Given the description of an element on the screen output the (x, y) to click on. 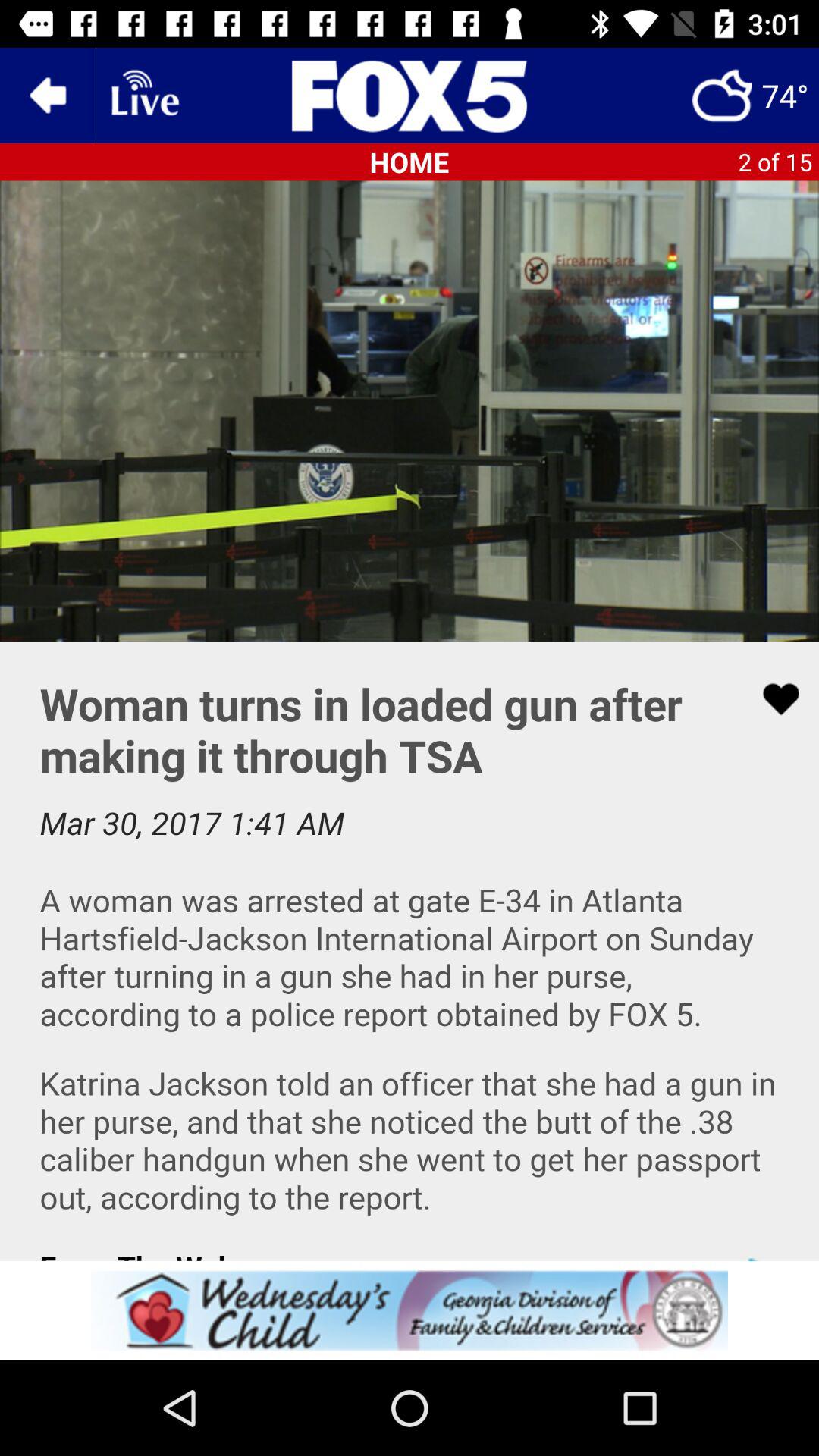
our app connects you with top stories in and around the atl (409, 950)
